Given the description of an element on the screen output the (x, y) to click on. 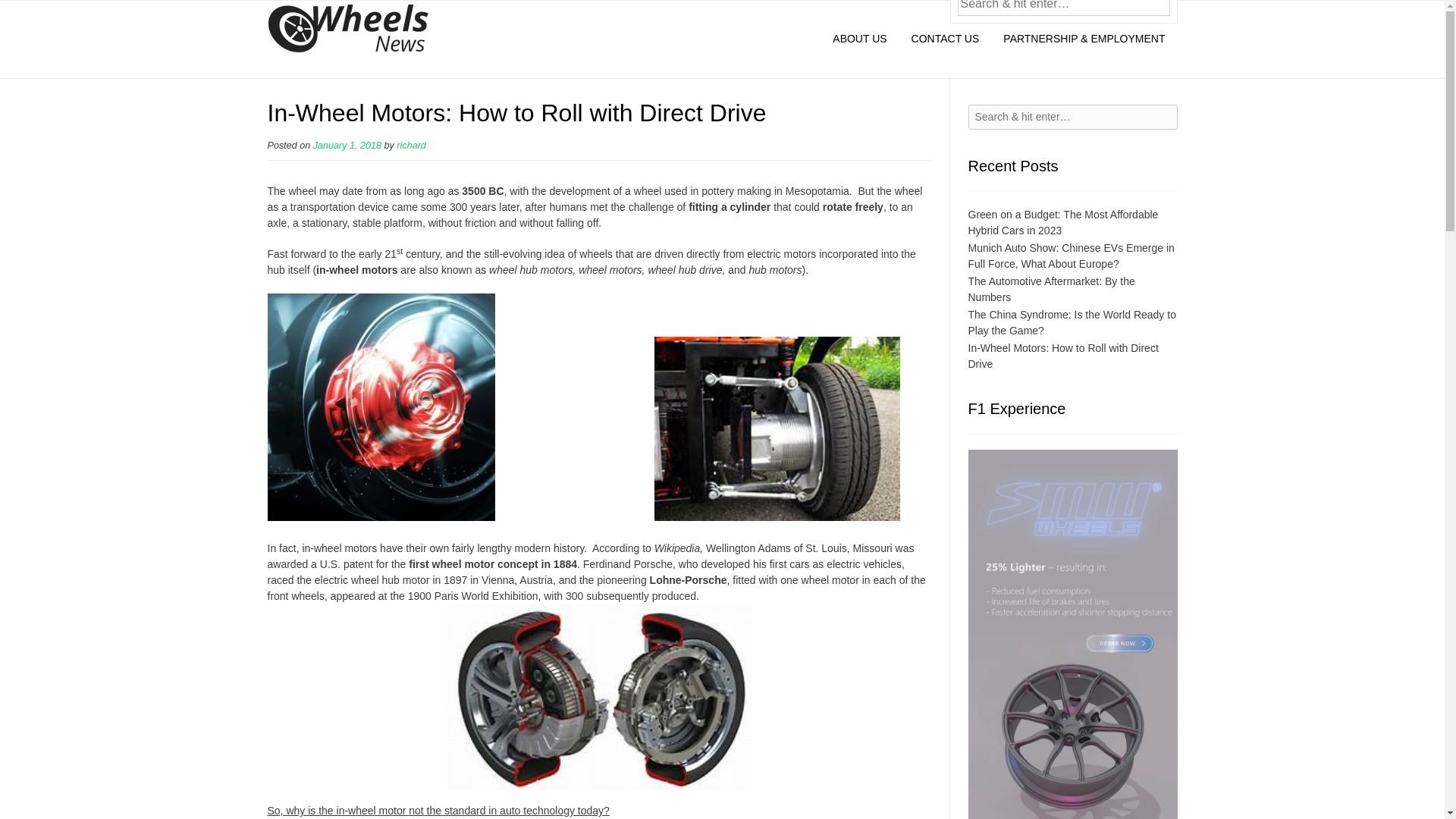
January 1, 2018 (347, 145)
Green on a Budget: The Most Affordable Hybrid Cars in 2023 (1062, 222)
richard (411, 145)
The China Syndrome: Is the World Ready to Play the Game? (1071, 322)
In-Wheel Motors: How to Roll with Direct Drive (1062, 356)
CONTACT US (945, 38)
SMW Wheels (1072, 634)
ABOUT US (859, 38)
